Given the description of an element on the screen output the (x, y) to click on. 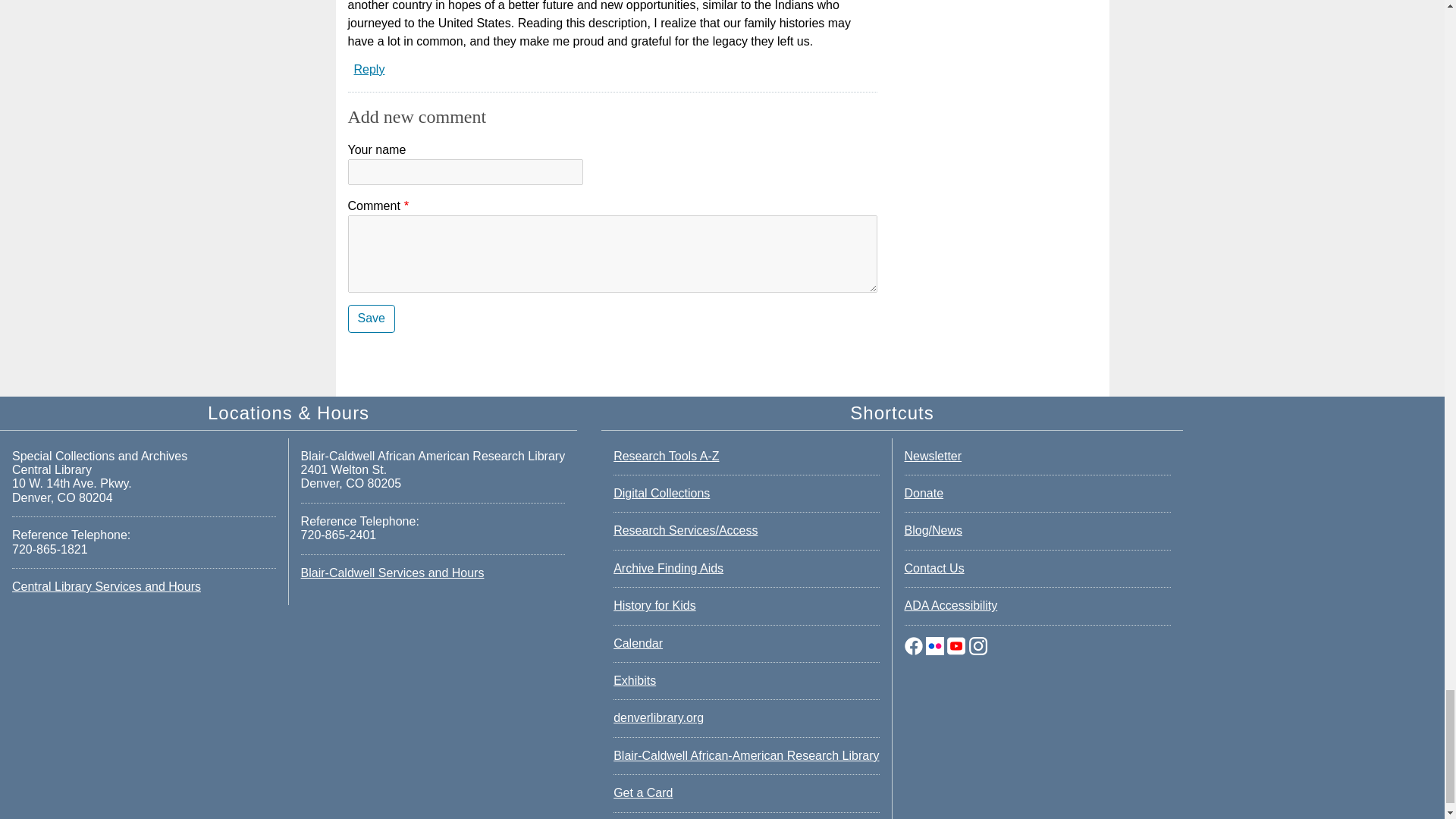
Reply (368, 69)
Save (370, 318)
Save (370, 318)
